Given the description of an element on the screen output the (x, y) to click on. 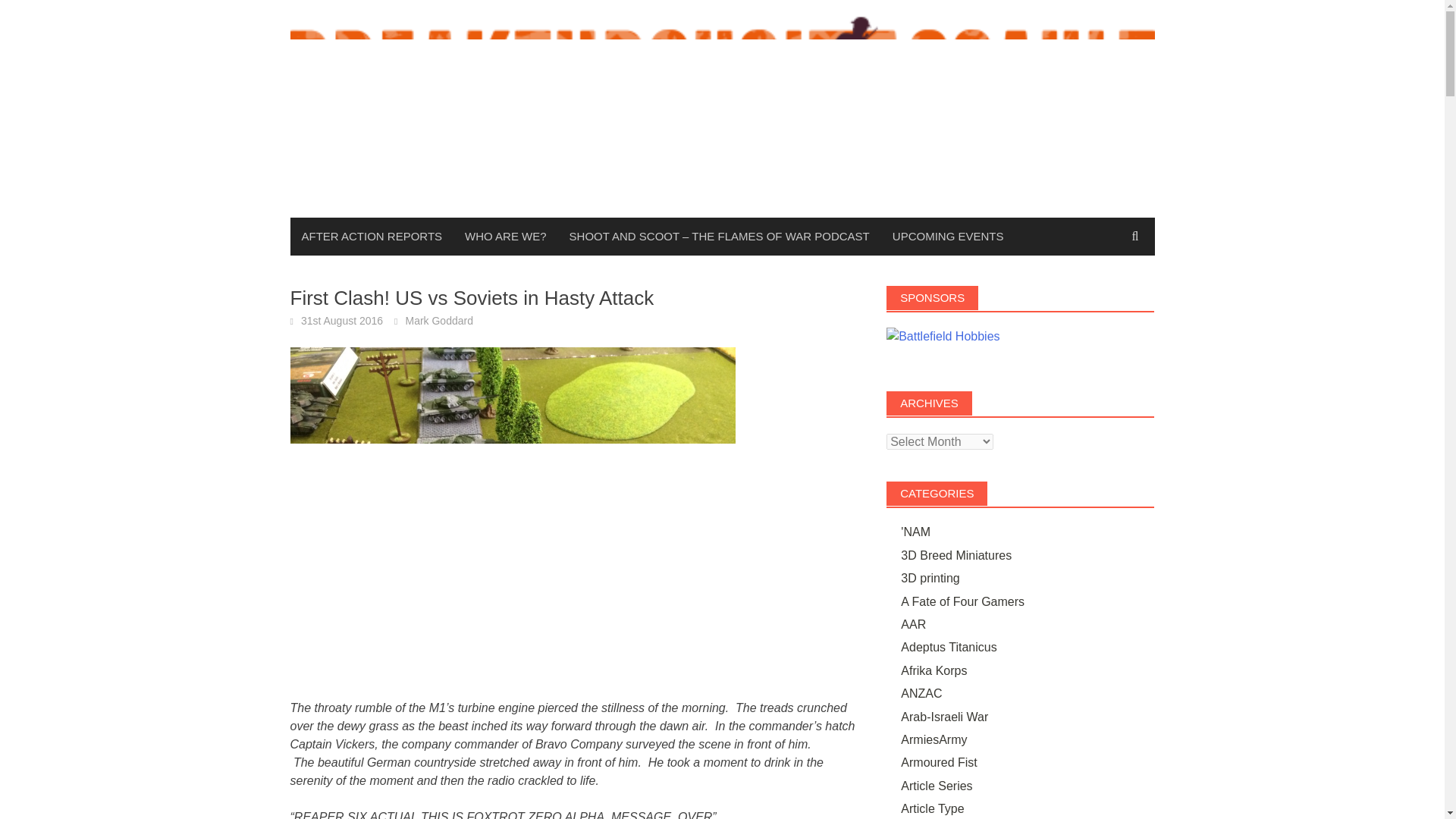
UPCOMING EVENTS (947, 236)
AFTER ACTION REPORTS (370, 236)
WHO ARE WE? (504, 236)
31st August 2016 (341, 320)
'NAM (915, 531)
A Fate of Four Gamers (963, 601)
3D Breed Miniatures (956, 554)
3D printing (930, 577)
Mark Goddard (437, 320)
